Given the description of an element on the screen output the (x, y) to click on. 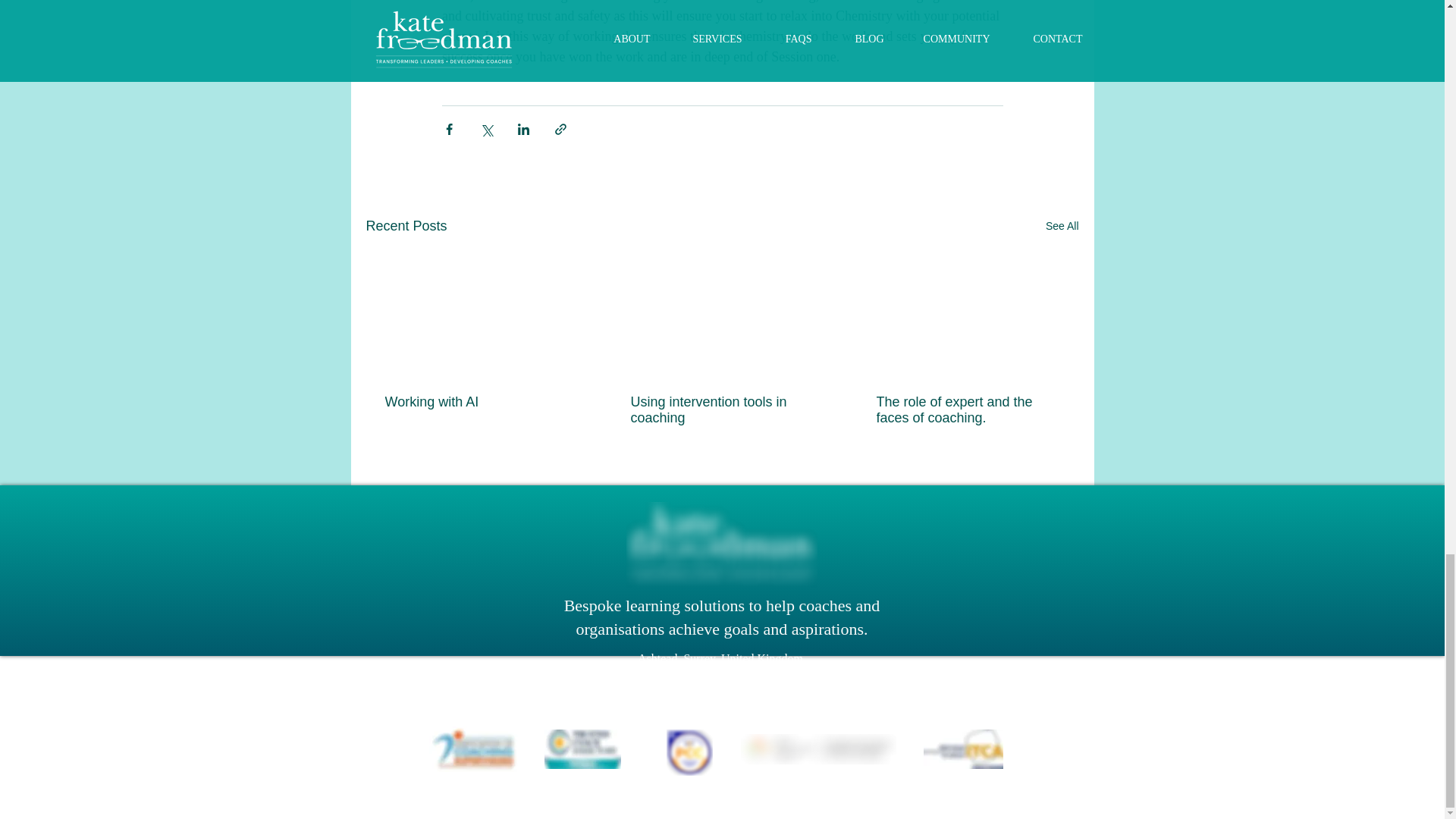
0788 767 5481  (806, 680)
The role of expert and the faces of coaching. (967, 409)
Using intervention tools in coaching (721, 409)
Working with AI (476, 401)
See All (1061, 226)
